Given the description of an element on the screen output the (x, y) to click on. 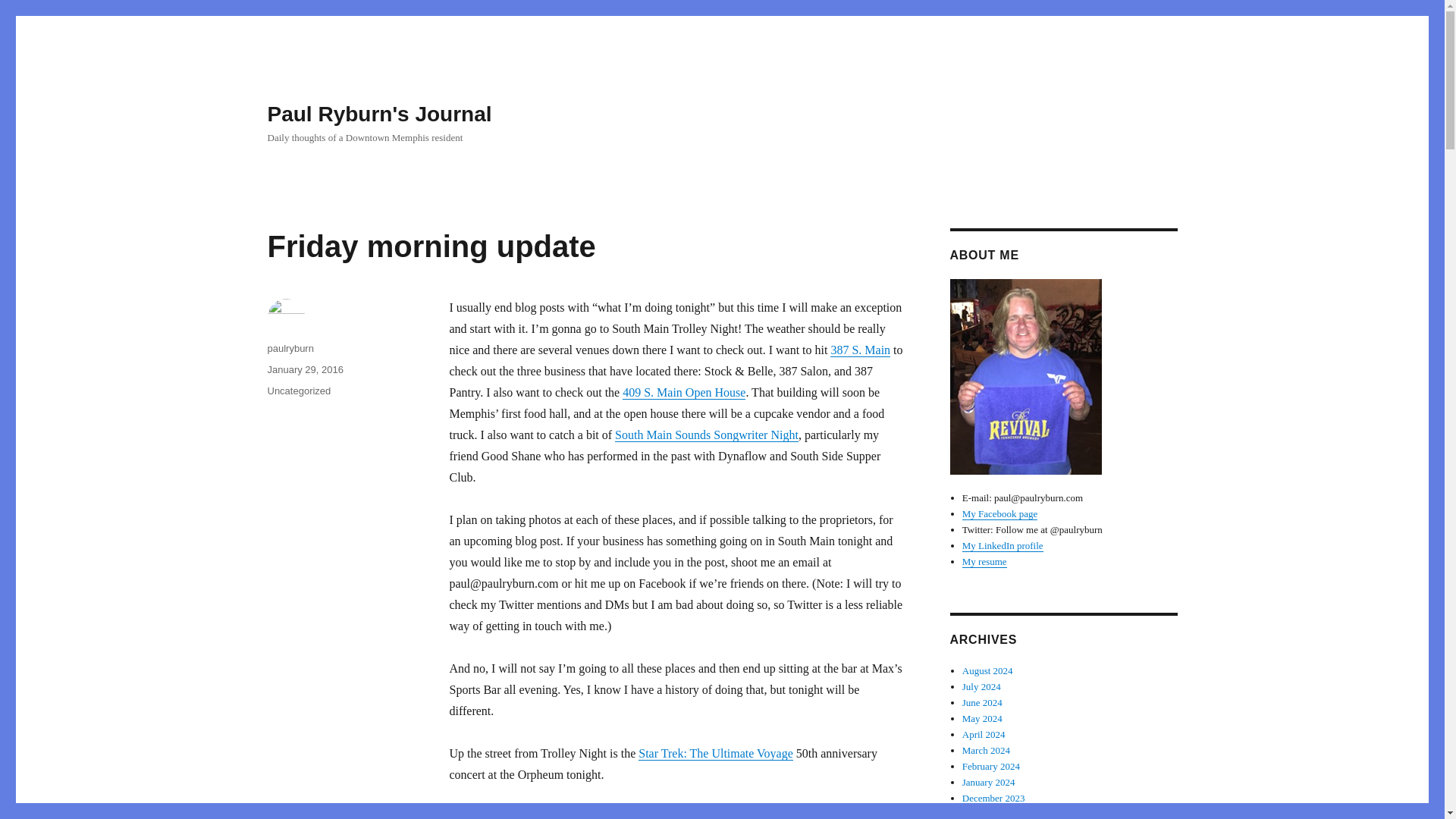
409 S. Main Open House (684, 391)
387 S. Main (859, 349)
My LinkedIn profile (1002, 545)
Uncategorized (298, 390)
Paul Ryburn's Journal (379, 114)
Star Trek: The Ultimate Voyage (716, 753)
My Facebook page (1000, 513)
South Main Sounds Songwriter Night (705, 434)
January 29, 2016 (304, 369)
paulryburn (289, 348)
